Given the description of an element on the screen output the (x, y) to click on. 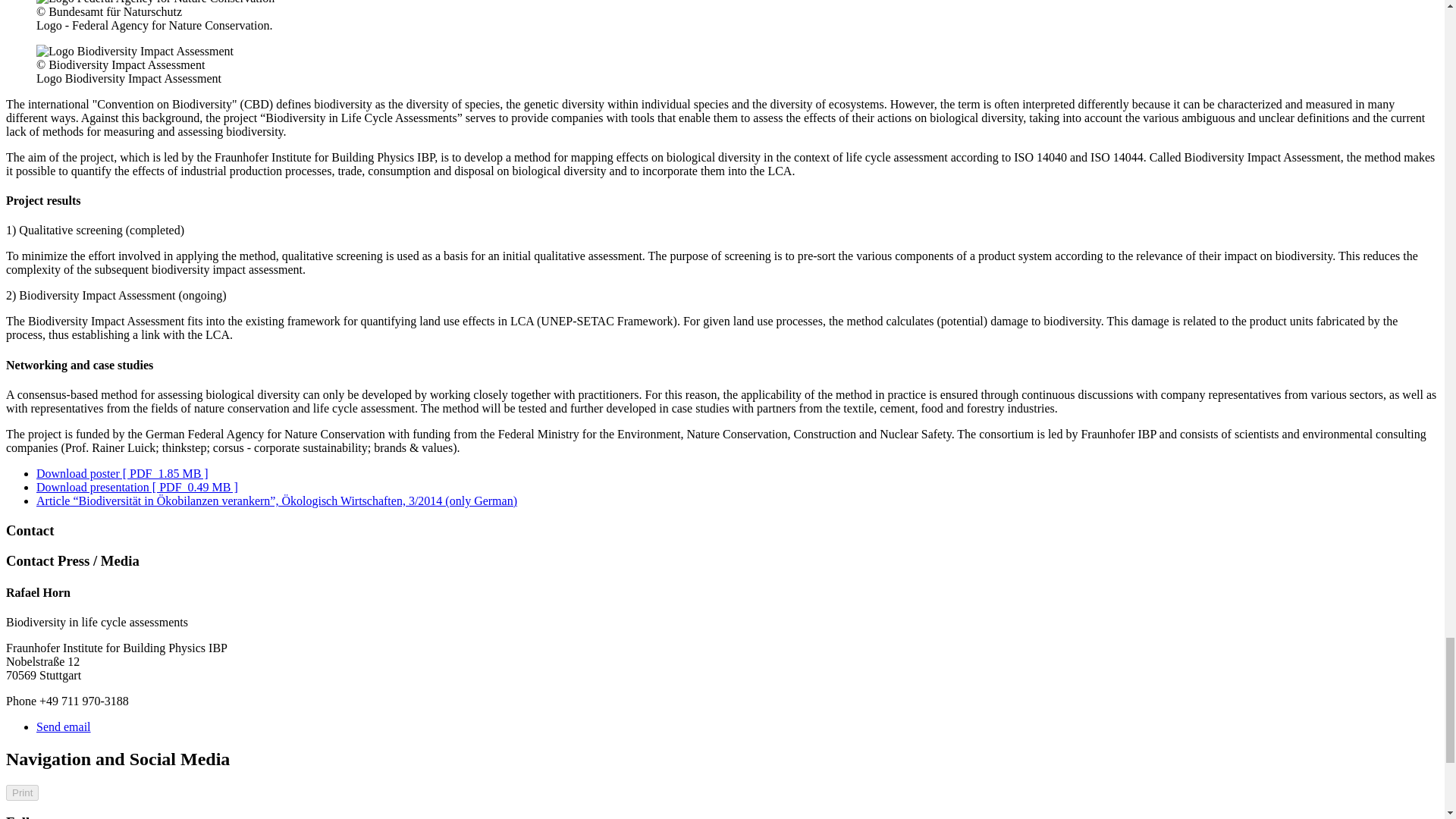
Logo 2014 (155, 2)
Logo Biodiversity Impact Assessment (134, 51)
